Given the description of an element on the screen output the (x, y) to click on. 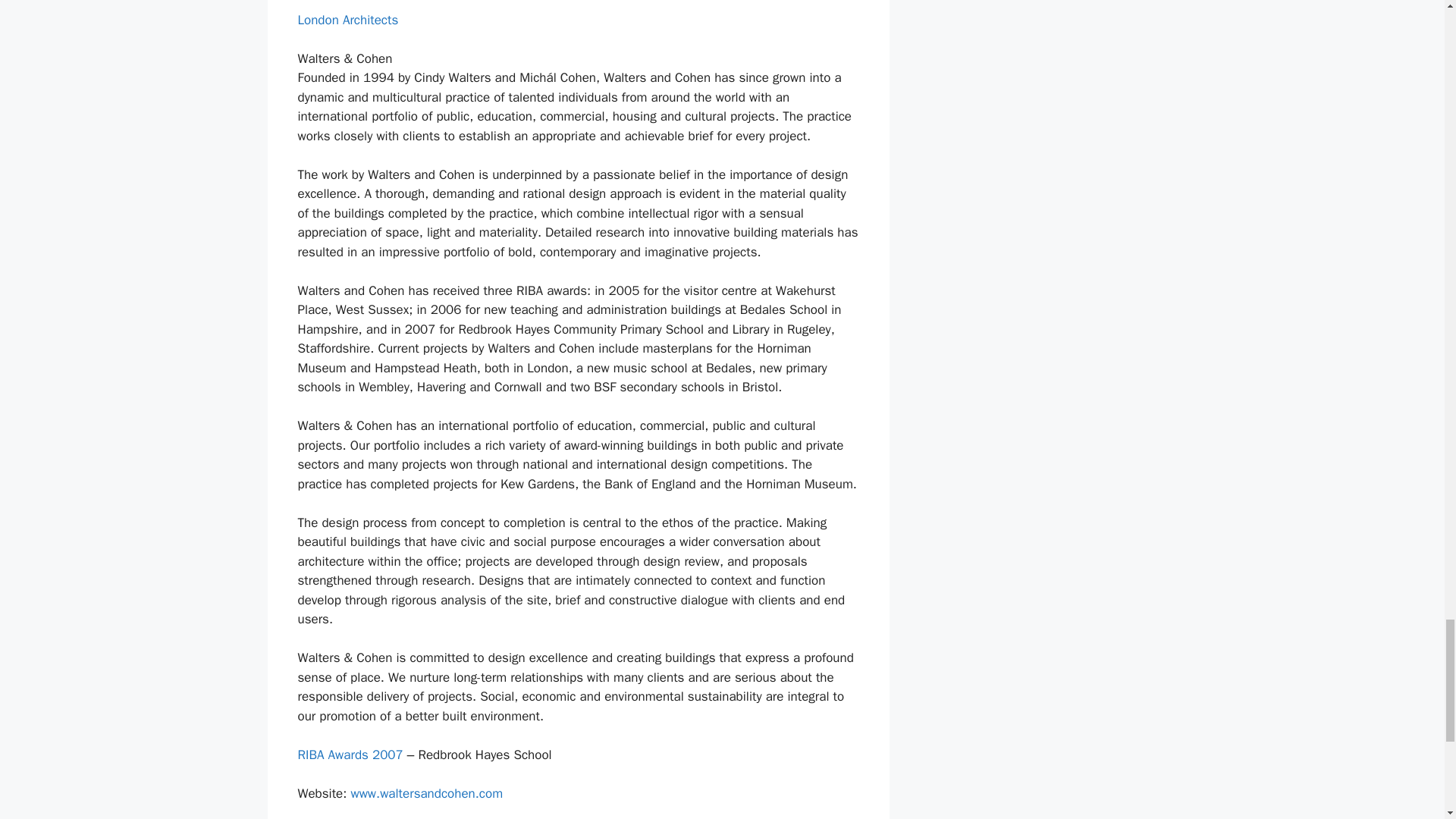
London Architects (347, 19)
www.waltersandcohen.com (426, 793)
RIBA Awards 2007 (350, 754)
